Given the description of an element on the screen output the (x, y) to click on. 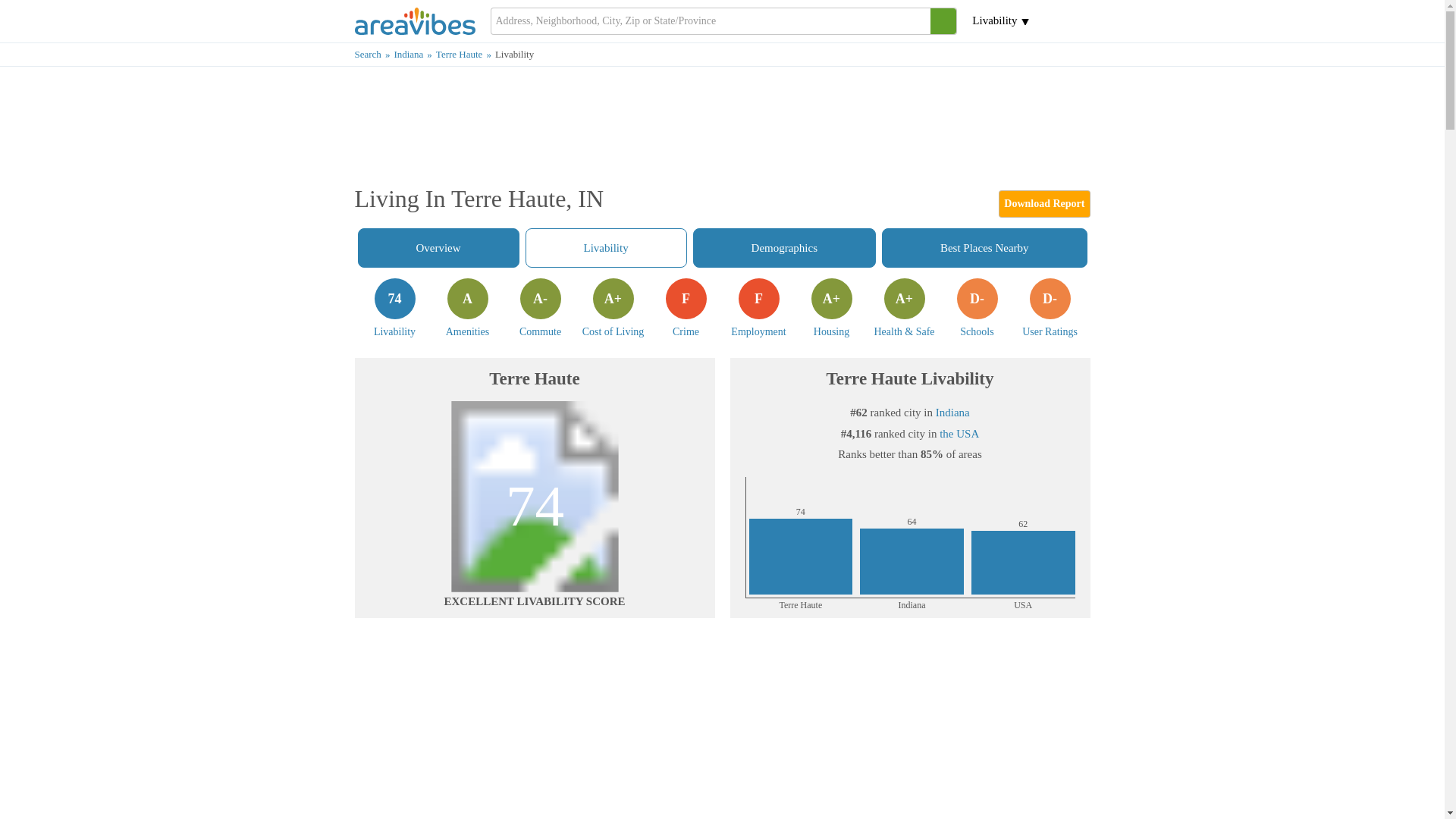
Search (1049, 308)
Indiana (394, 308)
Livability (374, 53)
Overview (414, 53)
Demographics (606, 247)
